Given the description of an element on the screen output the (x, y) to click on. 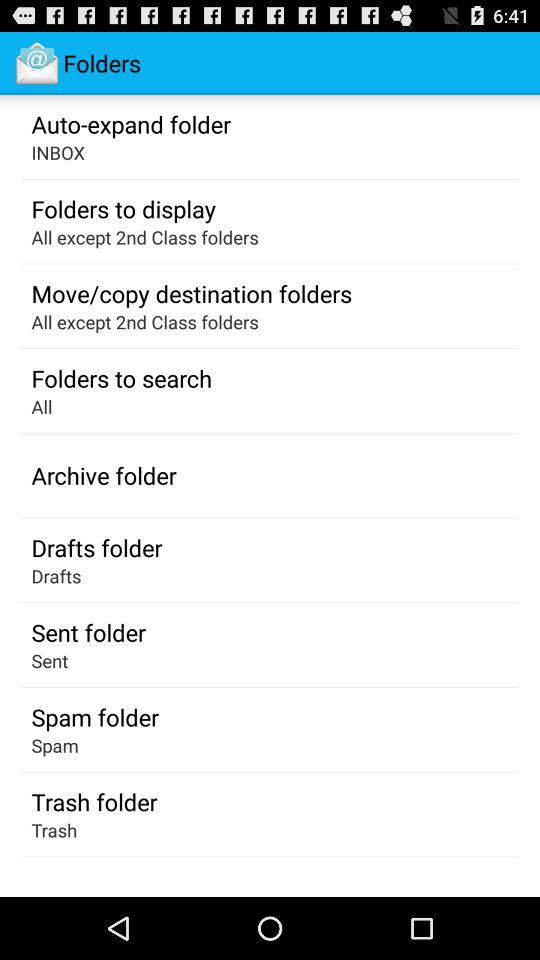
scroll until the move copy destination (191, 293)
